Given the description of an element on the screen output the (x, y) to click on. 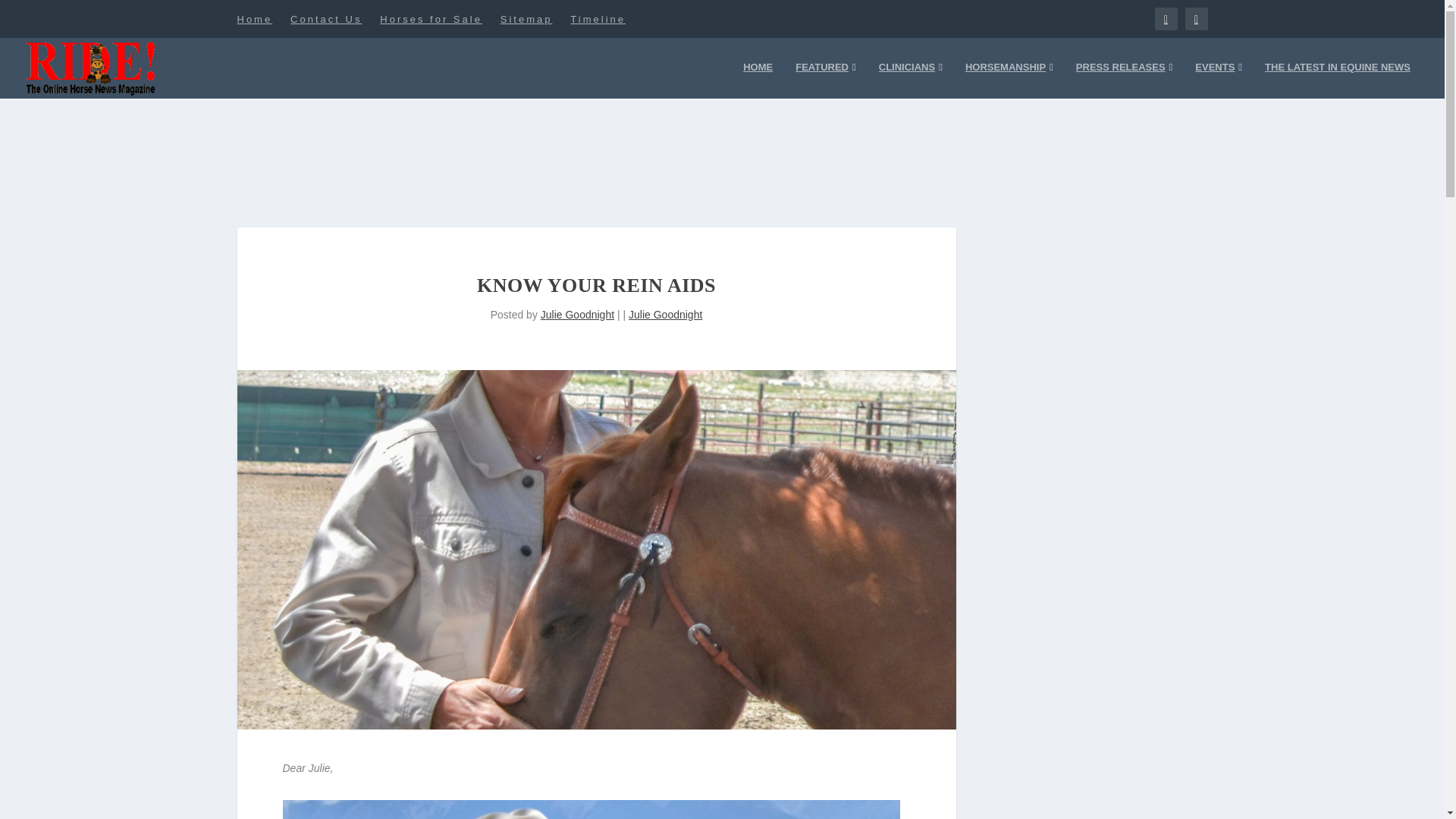
Horses for Sale (430, 18)
Contact Us (325, 18)
PRESS RELEASES (1124, 79)
CLINICIANS (910, 79)
HORSEMANSHIP (1008, 79)
Timeline (598, 18)
Home (253, 18)
FEATURED (825, 79)
Posts by Julie Goodnight (577, 314)
Sitemap (526, 18)
